Given the description of an element on the screen output the (x, y) to click on. 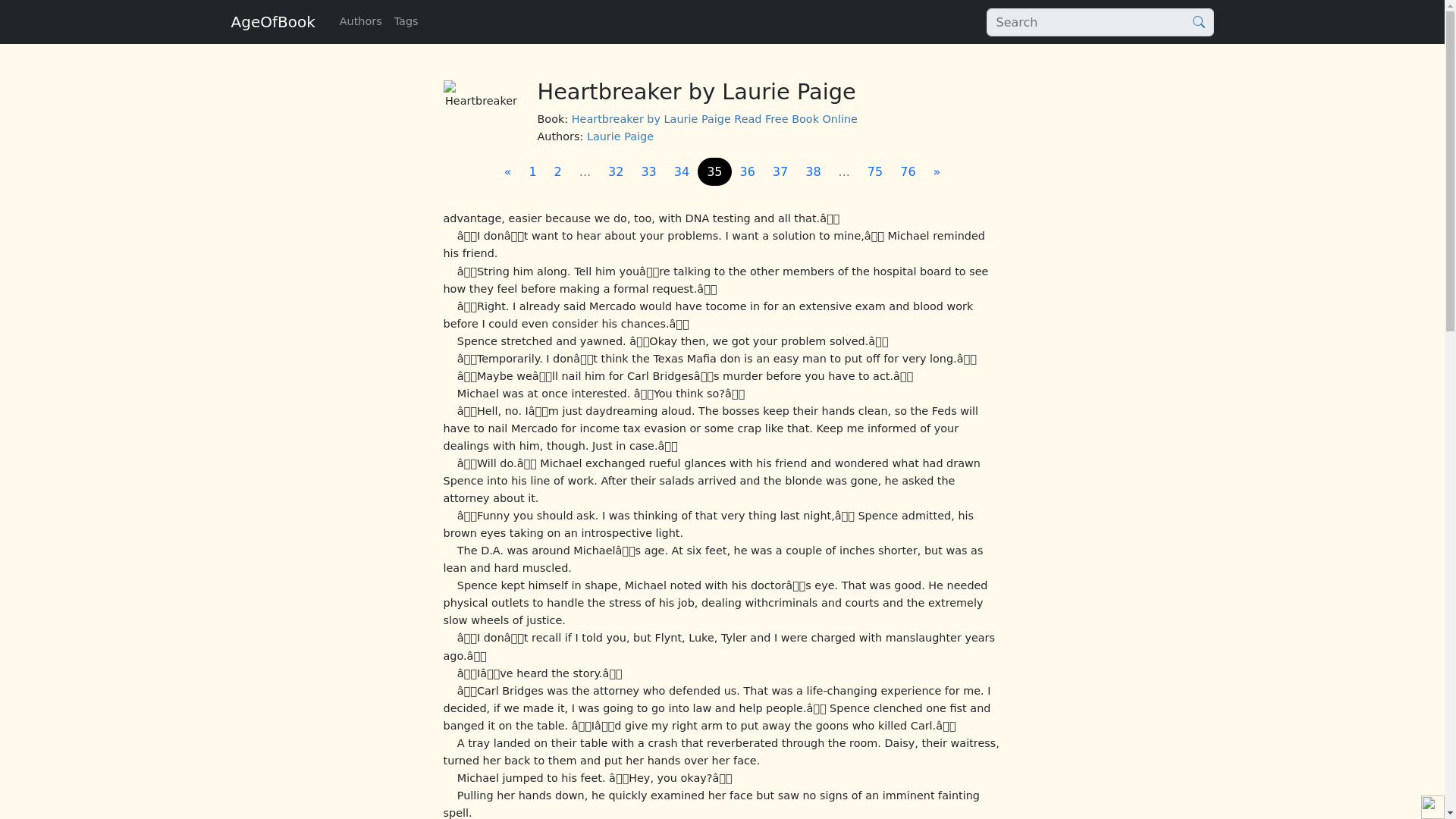
Heartbreaker by Laurie Paige Read Free Book Online (714, 119)
36 (747, 172)
35 (713, 172)
37 (779, 172)
... (844, 172)
Laurie Paige (619, 136)
... (584, 172)
Authors (360, 21)
32 (614, 172)
1 (531, 172)
Tags (406, 21)
38 (812, 172)
34 (681, 172)
76 (907, 172)
33 (648, 172)
